Given the description of an element on the screen output the (x, y) to click on. 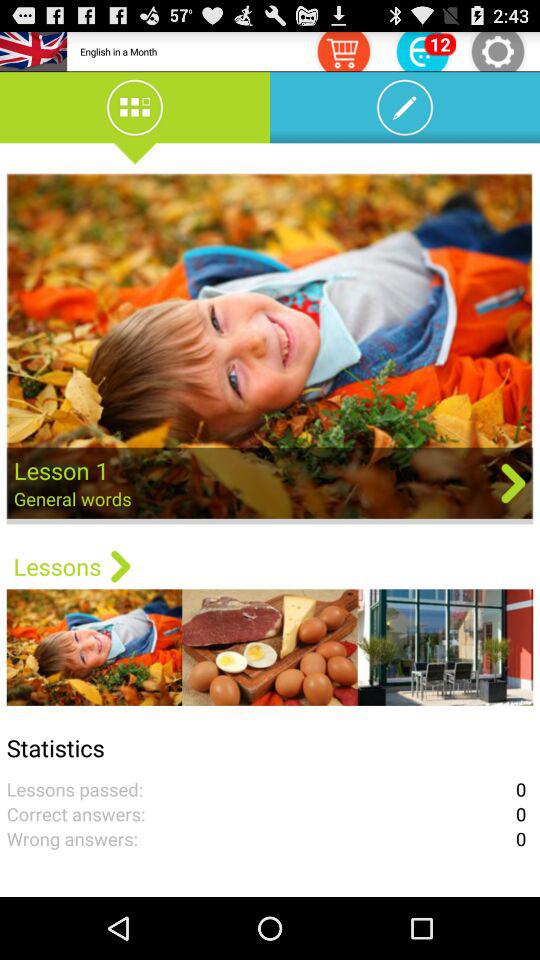
go to advertisement (269, 348)
